Given the description of an element on the screen output the (x, y) to click on. 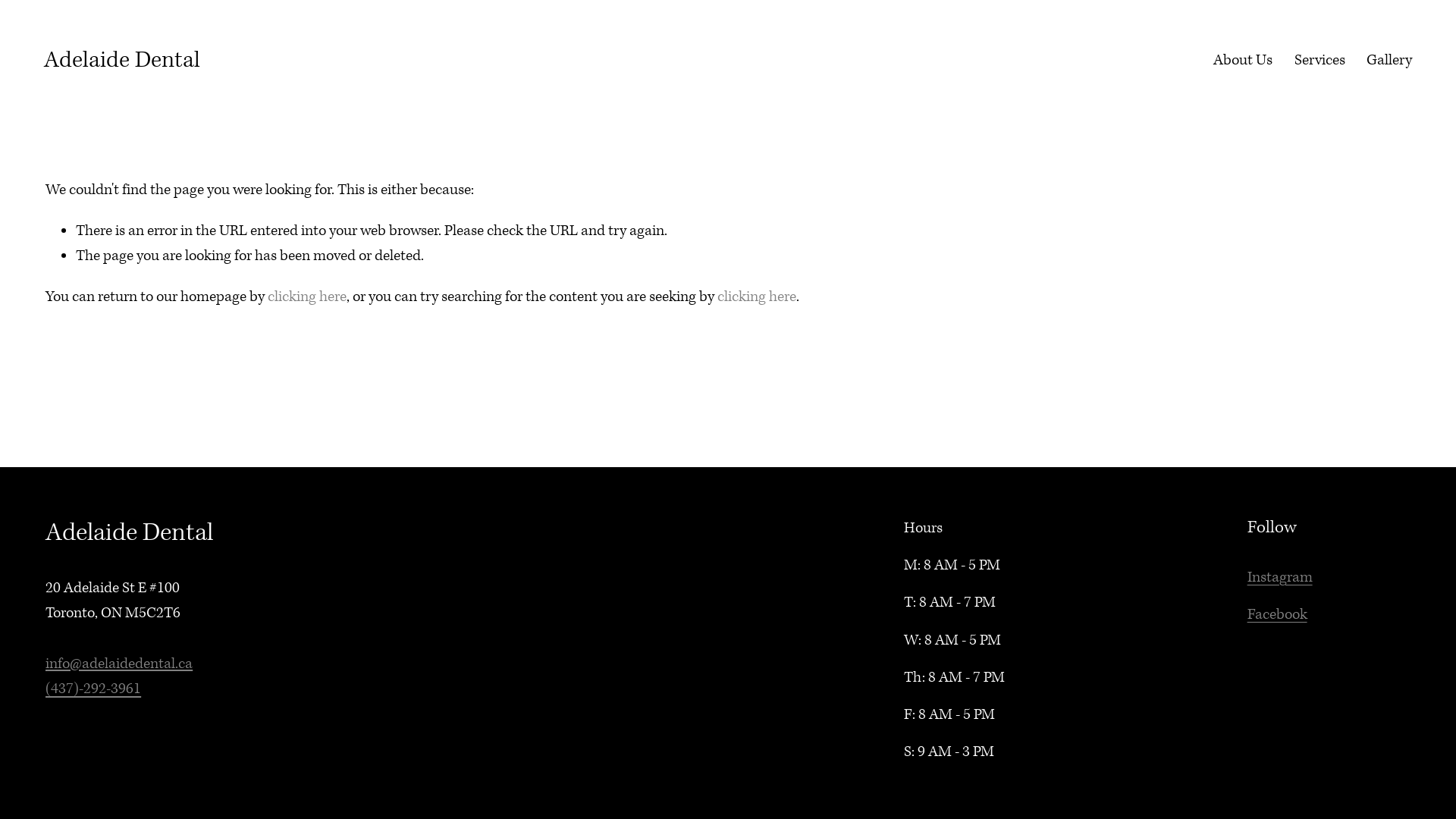
clicking here Element type: text (756, 296)
Gallery Element type: text (1389, 60)
clicking here Element type: text (306, 296)
Instagram Element type: text (1279, 576)
Facebook Element type: text (1277, 614)
Adelaide Dental Element type: text (121, 60)
About Us Element type: text (1242, 60)
Services Element type: text (1319, 60)
(437)-292-3961 Element type: text (93, 688)
